Given the description of an element on the screen output the (x, y) to click on. 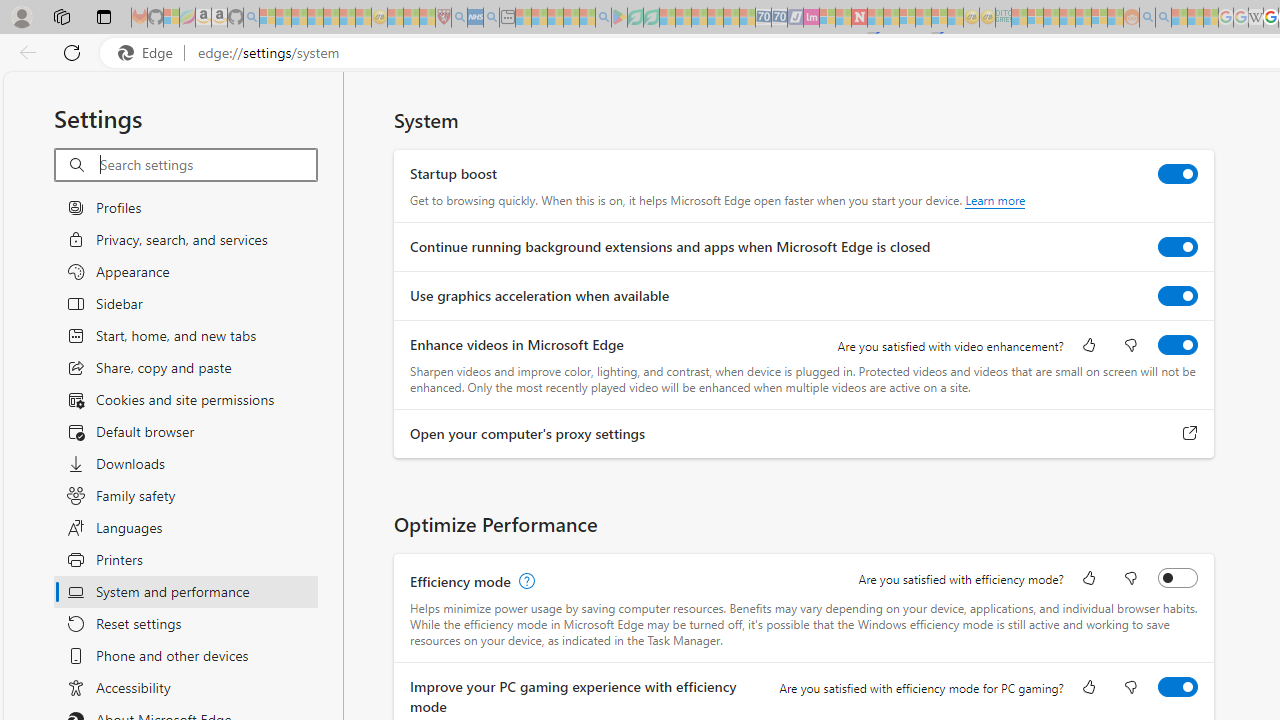
Efficiency mode (1178, 578)
google - Search - Sleeping (603, 17)
Like (1089, 688)
Search settings (207, 165)
